Given the description of an element on the screen output the (x, y) to click on. 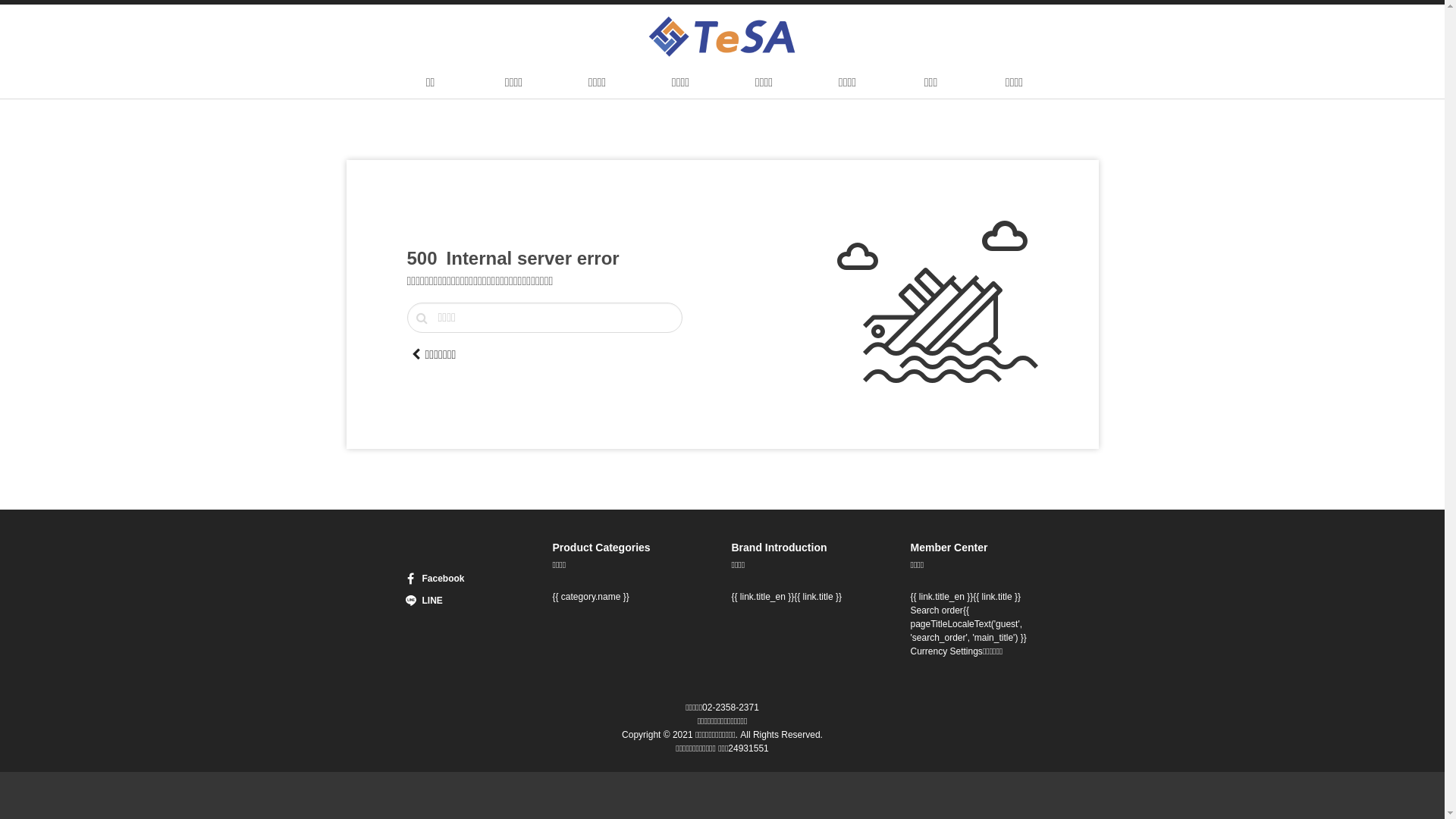
LINE Element type: text (449, 600)
02-2358-2371 Element type: text (730, 707)
Facebook Element type: text (449, 578)
